Given the description of an element on the screen output the (x, y) to click on. 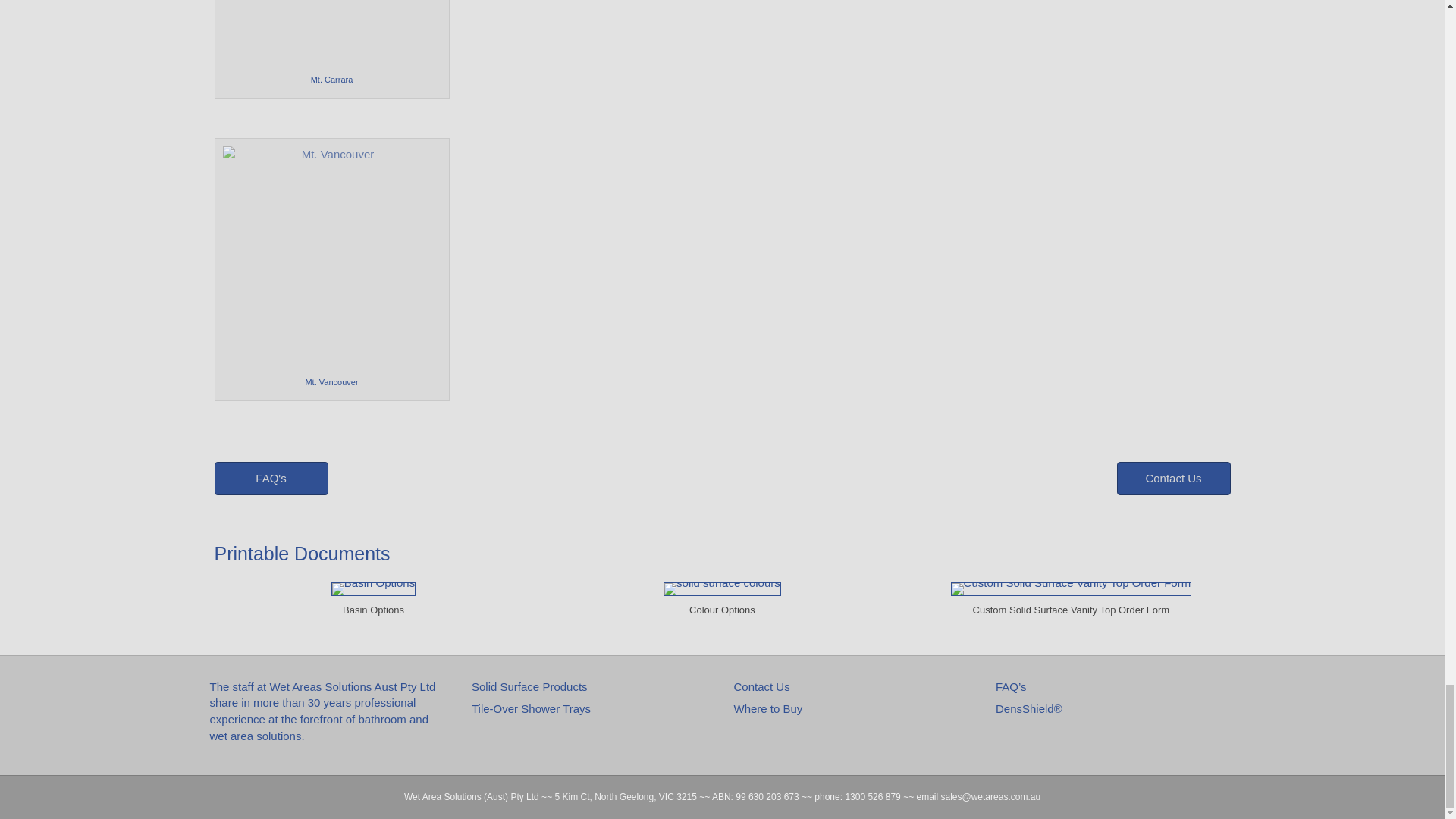
Contact Us (761, 686)
Tile-Over Shower Trays (531, 707)
Solid Surface Products (529, 686)
Where to Buy (768, 707)
basin choices (372, 589)
Custom Solid Surface Vanity Top Order Form jpeg (1071, 589)
Colours from brochure png (721, 589)
Contact Us (1173, 478)
FAQ's (270, 478)
